Given the description of an element on the screen output the (x, y) to click on. 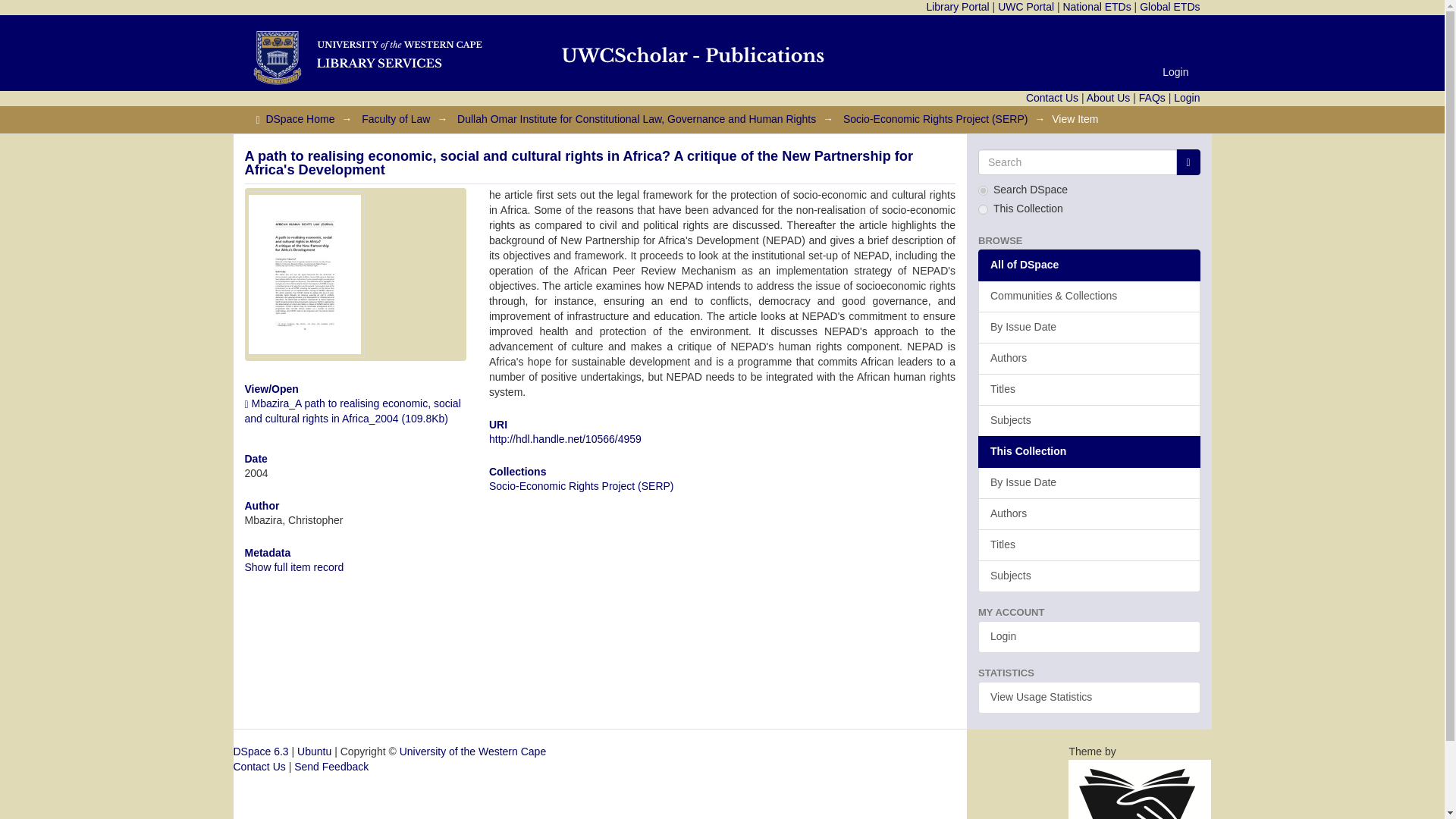
Authors (1088, 358)
By Issue Date (1088, 327)
Show full item record (293, 567)
Library Portal (957, 6)
Titles (1088, 389)
Global ETDs (1169, 6)
National ETDs (1096, 6)
Go (1187, 162)
Atmire NV (1139, 813)
